Given the description of an element on the screen output the (x, y) to click on. 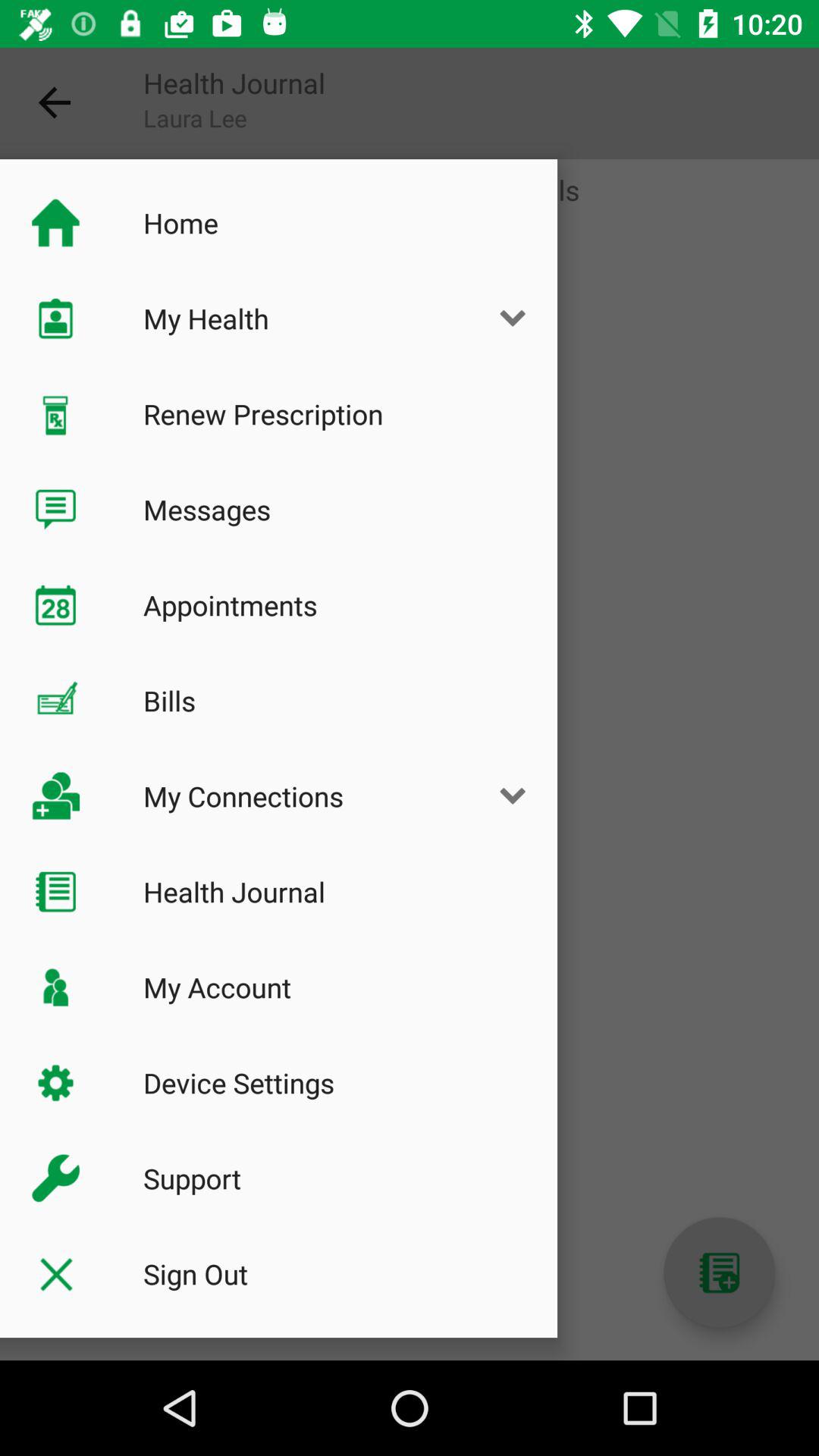
open icon to the left of health journal icon (55, 103)
